Given the description of an element on the screen output the (x, y) to click on. 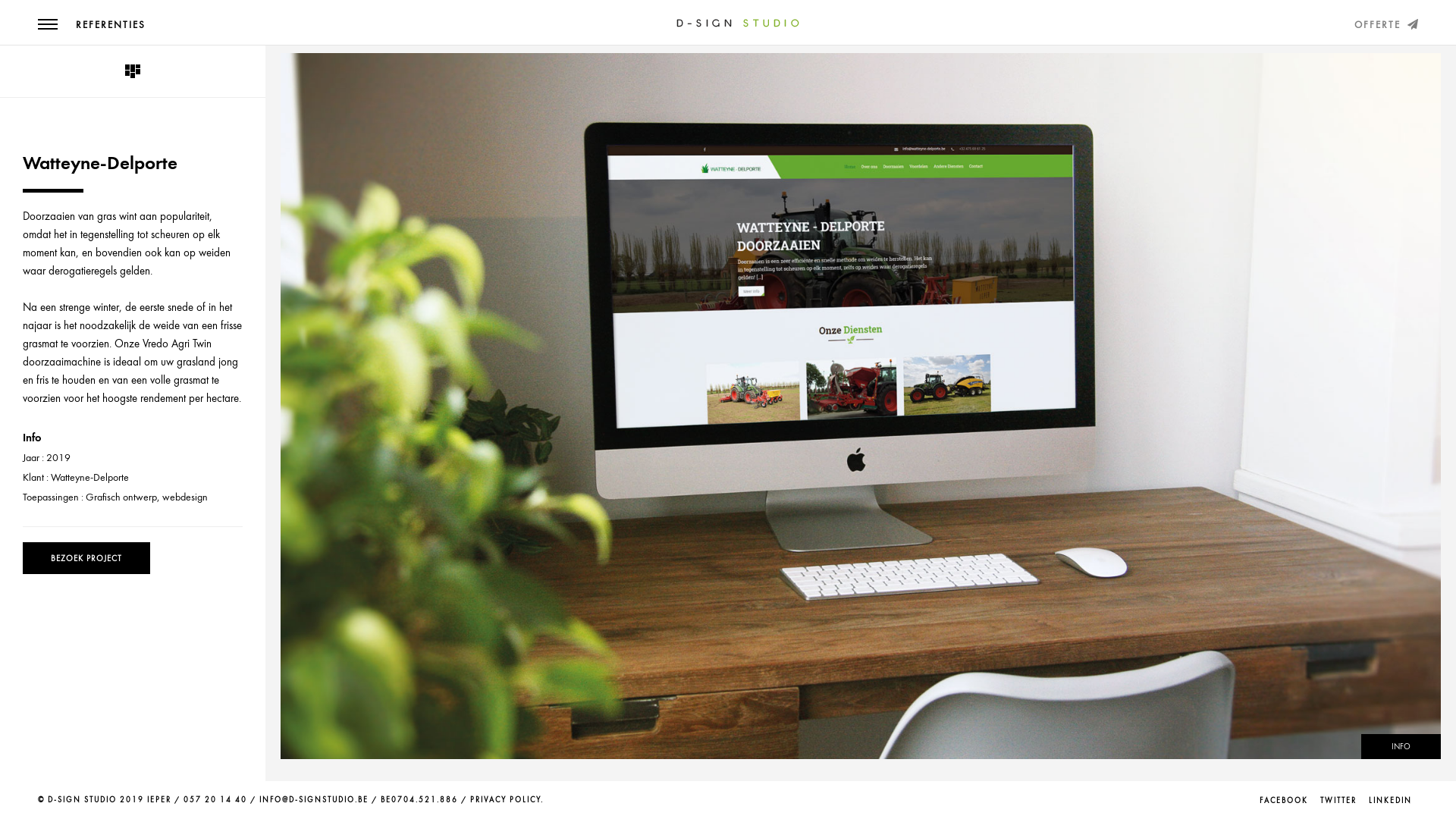
LINKEDIN Element type: text (1390, 799)
BEZOEK PROJECT Element type: text (86, 558)
FACEBOOK Element type: text (1283, 799)
REFERENTIES Element type: text (110, 24)
PRIVACY POLICY Element type: text (505, 799)
INFO@D-SIGNSTUDIO.BE Element type: text (313, 799)
OFFERTE Element type: text (1386, 24)
TWITTER Element type: text (1338, 799)
